Given the description of an element on the screen output the (x, y) to click on. 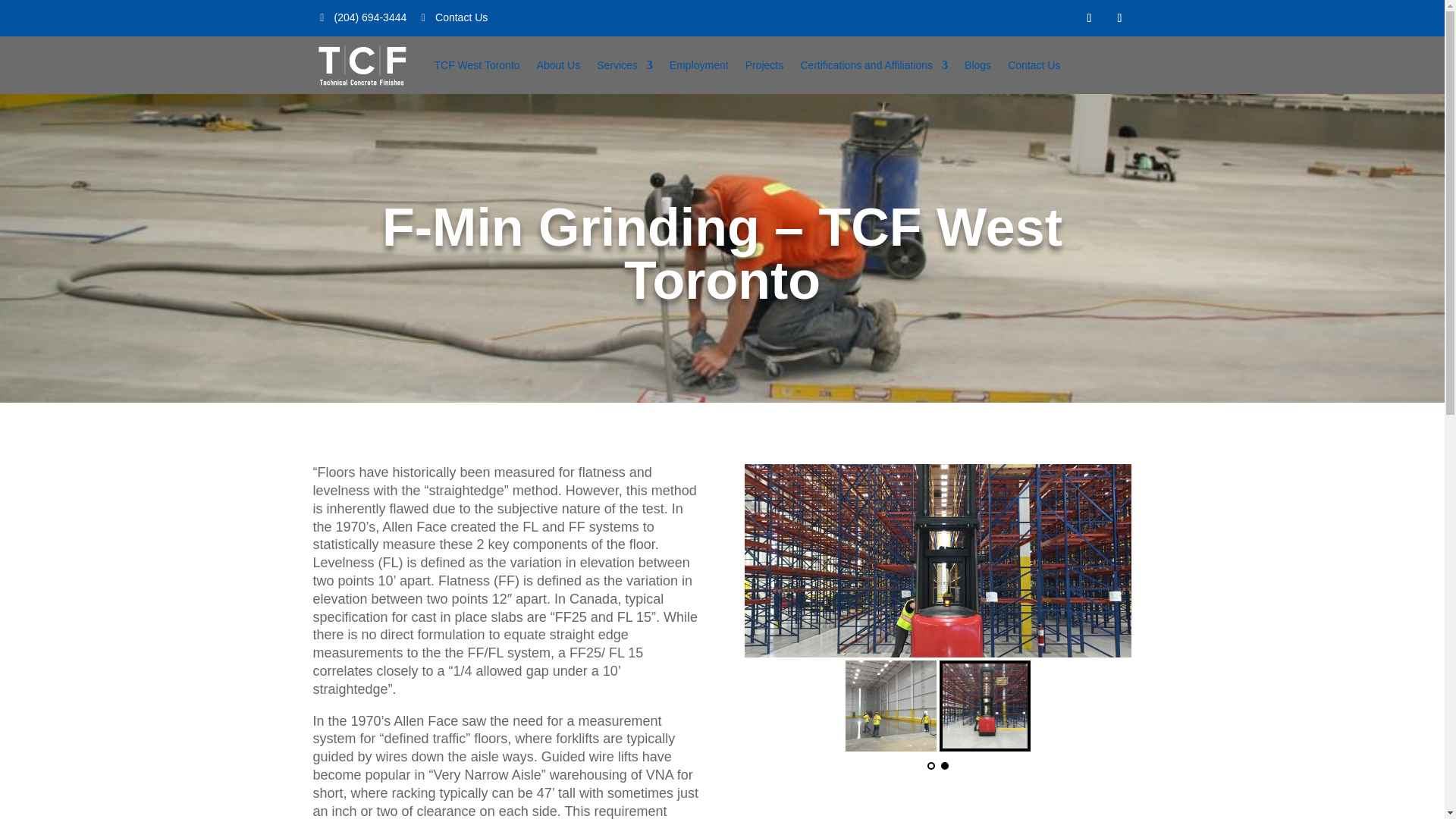
Services (624, 65)
Follow on Facebook (1088, 17)
Certifications and Affiliations (873, 65)
Follow on RSS (1118, 17)
Contact Us (454, 17)
TCF West Toronto (476, 65)
Employment (699, 65)
Contact Us (1033, 65)
